Given the description of an element on the screen output the (x, y) to click on. 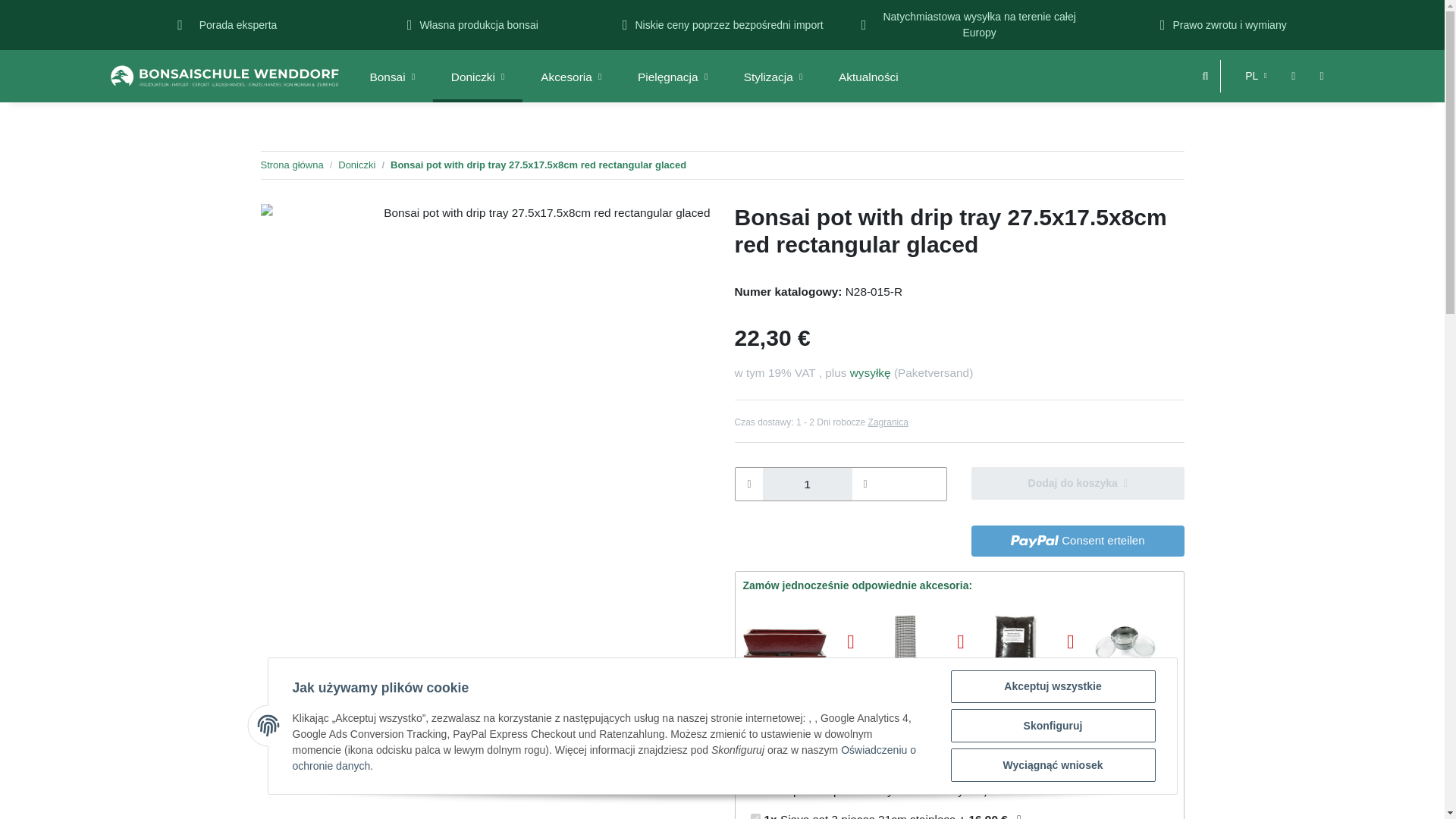
Akcesoria (571, 76)
Stylizacja (773, 76)
Stylizacja (773, 76)
Bonsai (392, 76)
Bonsai (392, 76)
Akcesoria (571, 76)
2001 (755, 816)
Bonsaischule Wenddorf (224, 75)
Doniczki (477, 76)
Doniczki (477, 76)
Doniczki (477, 76)
1847 (755, 760)
Bonsai (392, 76)
1 (806, 483)
